Given the description of an element on the screen output the (x, y) to click on. 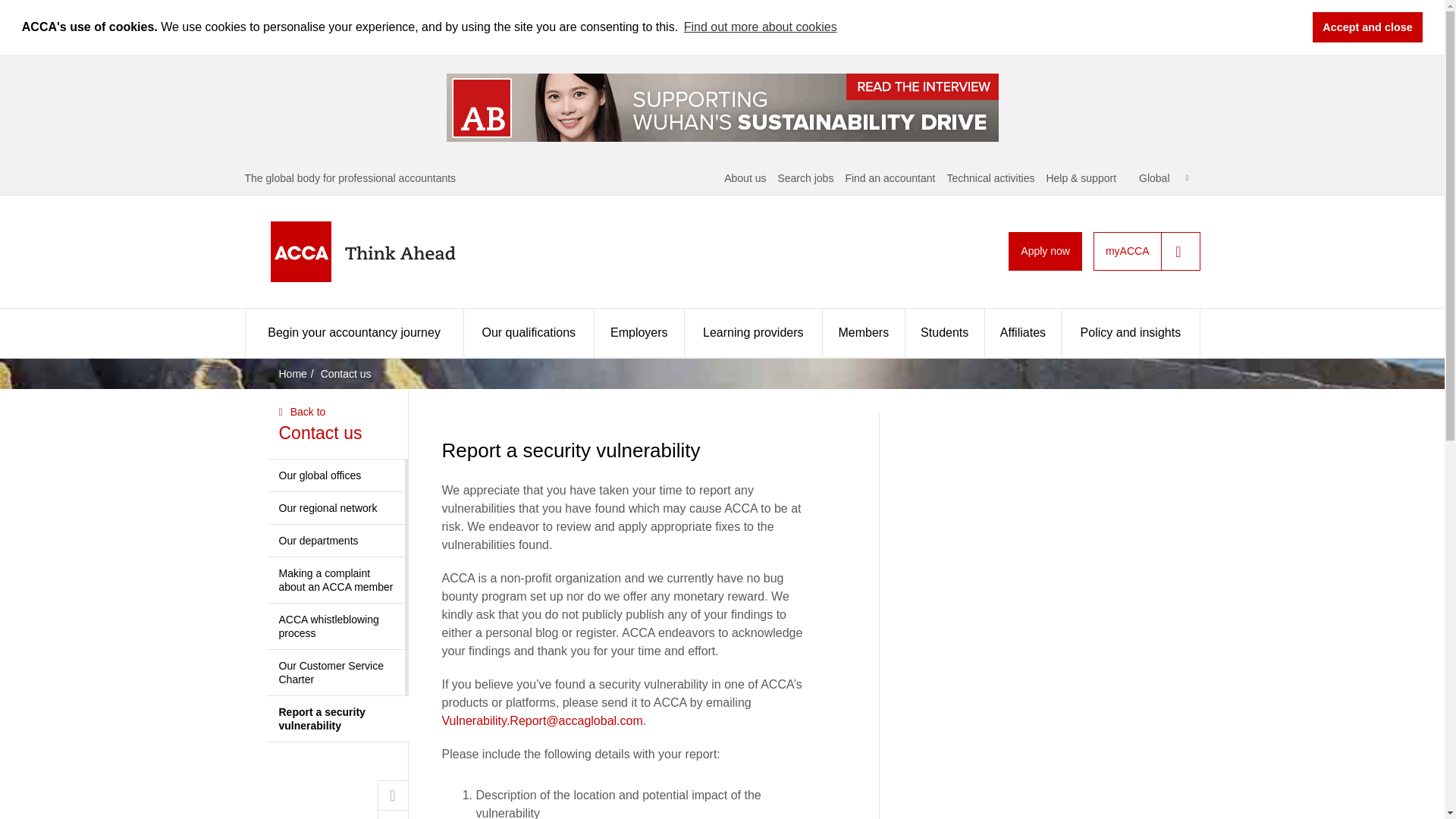
Technical activities (989, 177)
Global (1162, 177)
Search jobs (804, 177)
Find an accountant (889, 177)
Accept and close (1367, 27)
Global (1162, 177)
Home (387, 251)
Find out more about cookies (760, 26)
About us (744, 177)
